Given the description of an element on the screen output the (x, y) to click on. 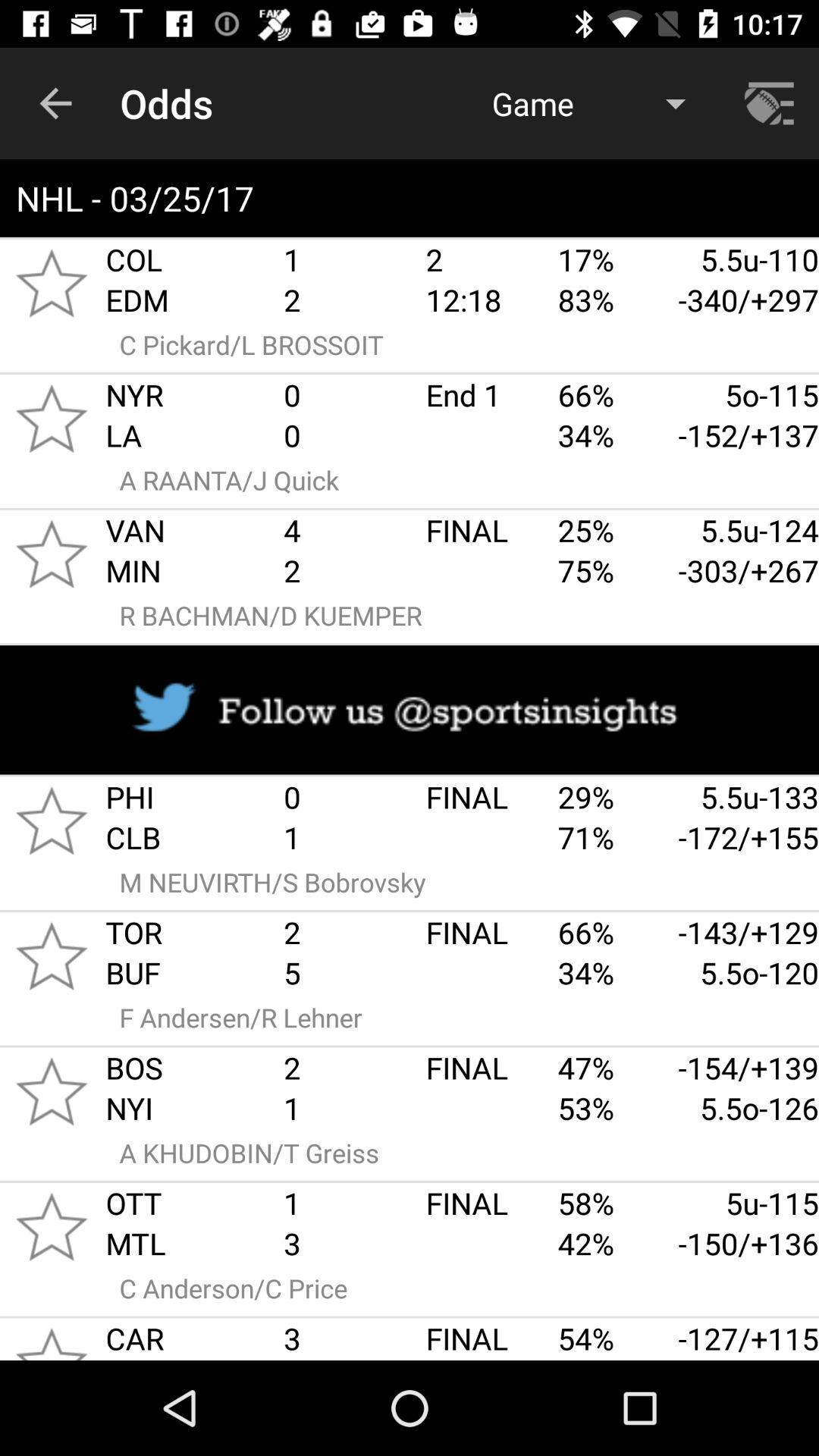
favorite (51, 1339)
